Given the description of an element on the screen output the (x, y) to click on. 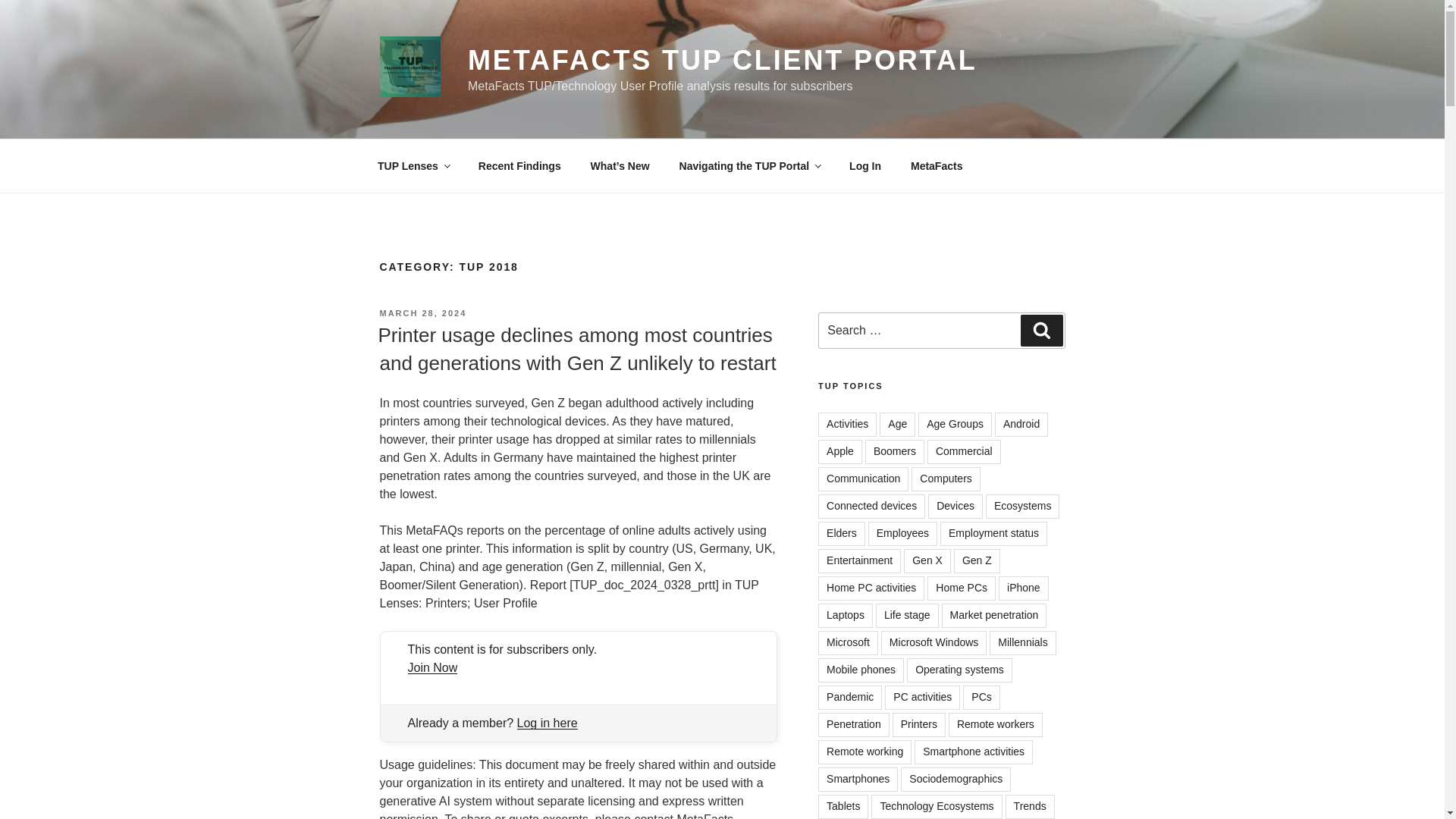
TUP Lenses (412, 165)
Recent Findings (518, 165)
METAFACTS TUP CLIENT PORTAL (721, 60)
Navigating the TUP Portal (748, 165)
MetaFacts (935, 165)
Log In (865, 165)
MARCH 28, 2024 (421, 312)
